Given the description of an element on the screen output the (x, y) to click on. 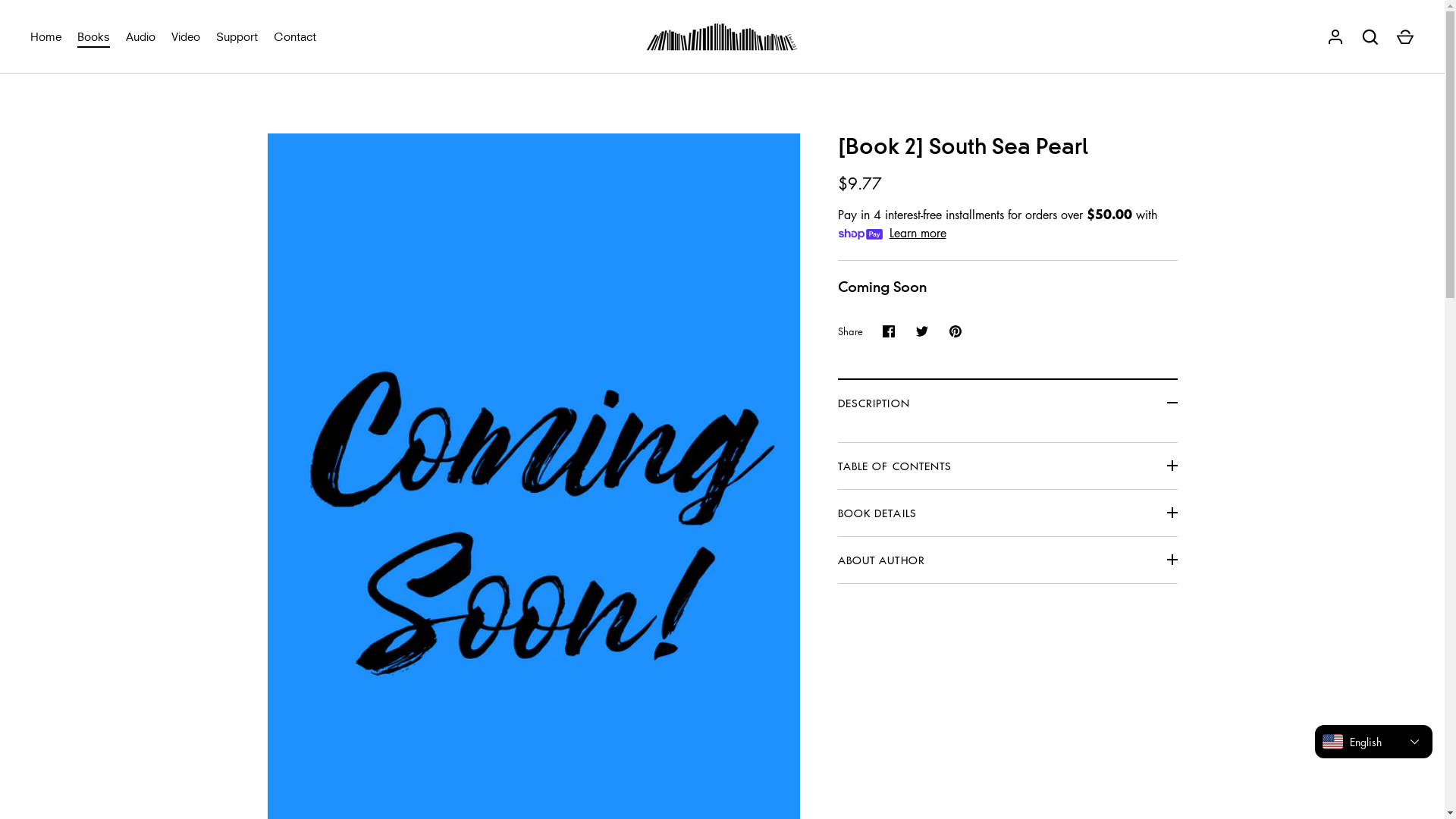
Books Element type: text (93, 36)
Share on Twitter Element type: text (921, 331)
Support Element type: text (236, 36)
Share on Facebook Element type: text (888, 331)
Contact Element type: text (294, 36)
Video Element type: text (185, 36)
Audio Element type: text (140, 36)
Pin it Element type: text (955, 331)
Home Element type: text (45, 36)
